Given the description of an element on the screen output the (x, y) to click on. 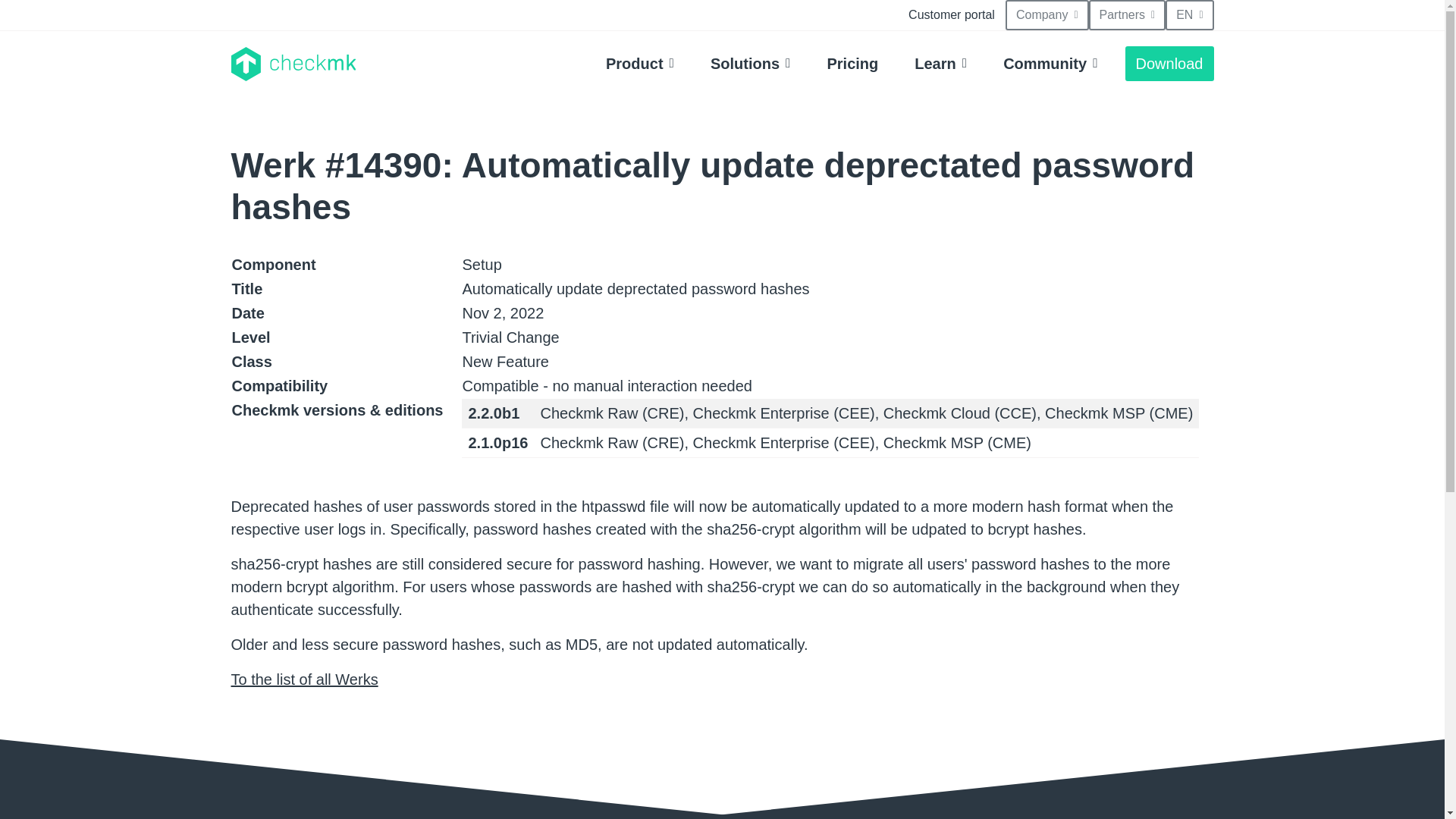
Partners (1127, 15)
Product (639, 63)
Customer portal (952, 15)
EN (1189, 15)
Solutions (750, 63)
Company (1047, 15)
Checkmk (292, 63)
